Given the description of an element on the screen output the (x, y) to click on. 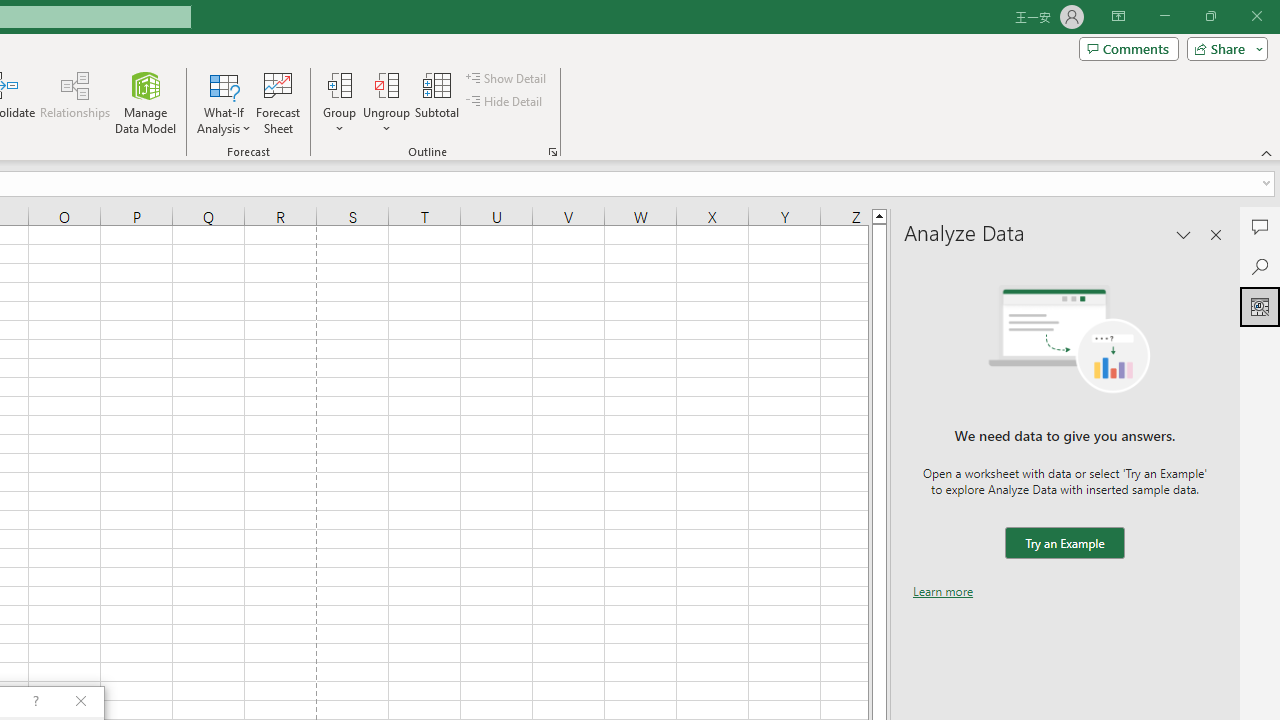
Hide Detail (505, 101)
What-If Analysis (223, 102)
Relationships (75, 102)
Group and Outline Settings (552, 151)
Show Detail (507, 78)
We need data to give you answers. Try an Example (1064, 543)
